Given the description of an element on the screen output the (x, y) to click on. 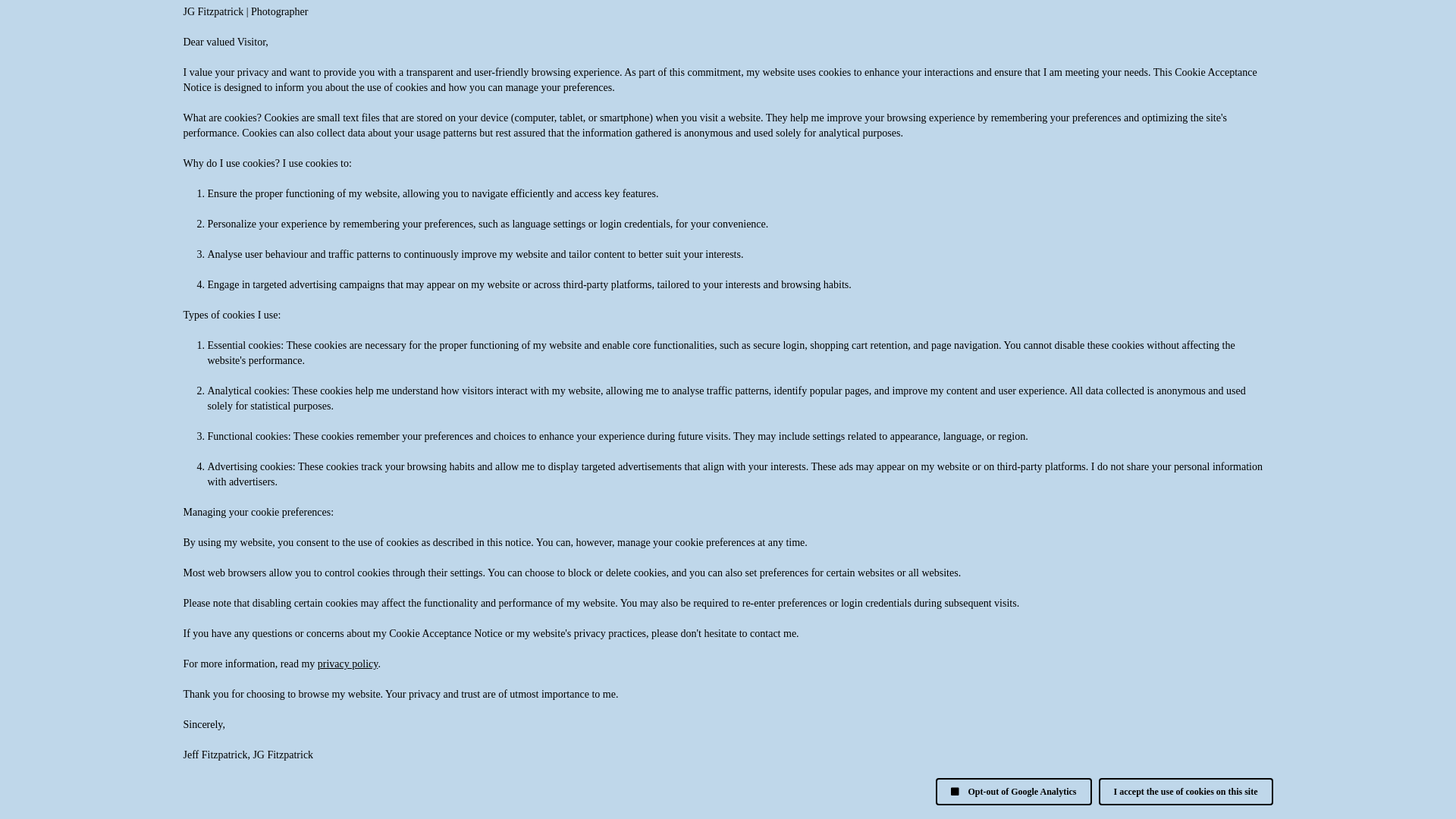
Search Element type: text (487, 17)
About Element type: text (77, 17)
Documents Element type: text (315, 17)
I accept the use of cookies on this site Element type: text (1185, 791)
privacy policy Element type: text (347, 663)
Home Element type: text (31, 17)
The Blog Element type: text (433, 17)
Client Galleries Element type: text (144, 17)
Client Response Element type: text (235, 17)
Monitor Calibration Element type: text (973, 242)
Contact Element type: text (376, 17)
